Given the description of an element on the screen output the (x, y) to click on. 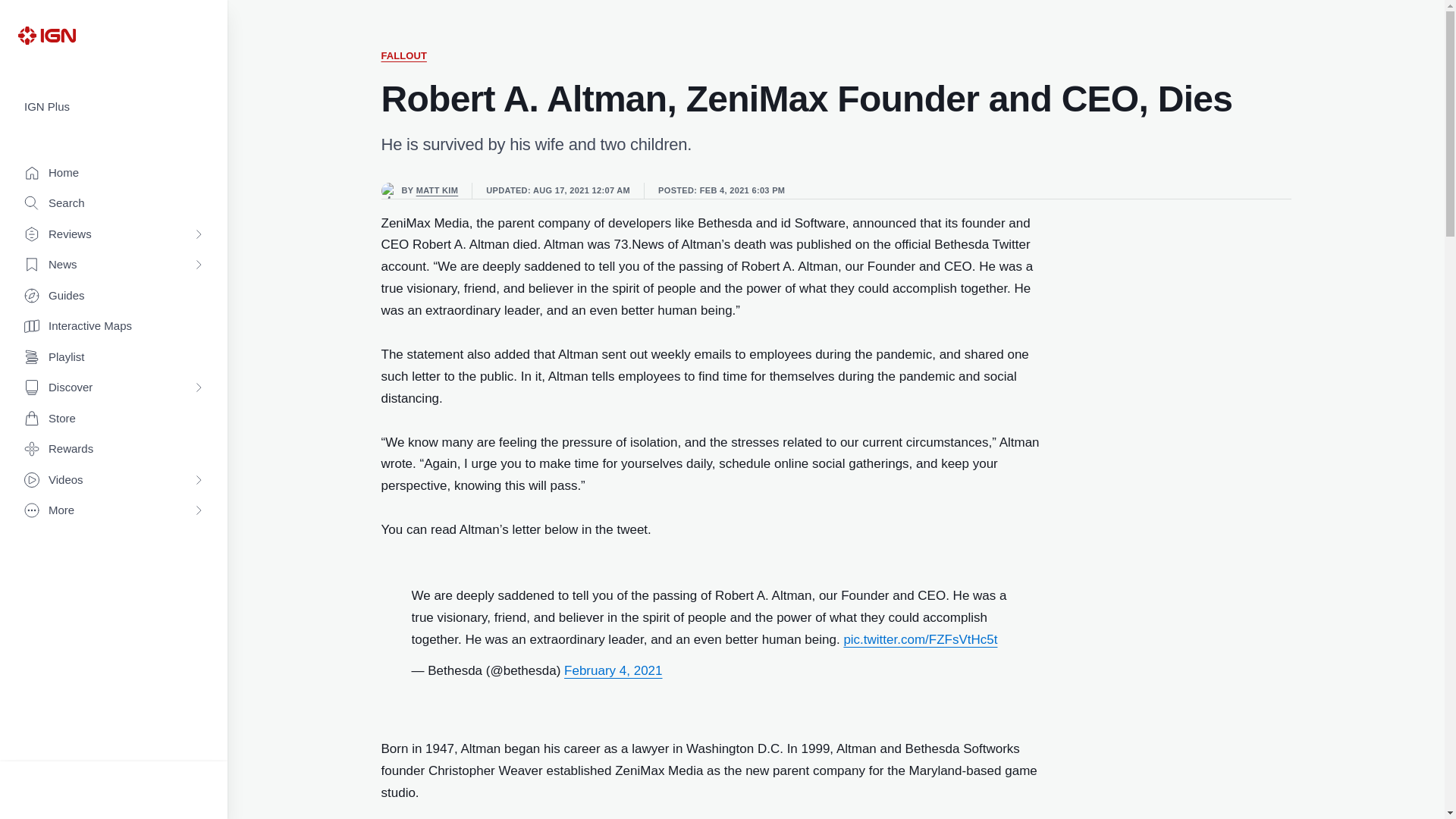
IGN Logo (46, 35)
News (113, 265)
Store (113, 418)
IGN (46, 35)
Rewards (113, 449)
IGN Plus (113, 107)
More (113, 510)
Videos (113, 480)
IGN Plus (113, 107)
Guides (113, 295)
Reviews (113, 234)
Interactive Maps (113, 326)
Store (113, 418)
Home (113, 172)
Reviews (113, 234)
